Given the description of an element on the screen output the (x, y) to click on. 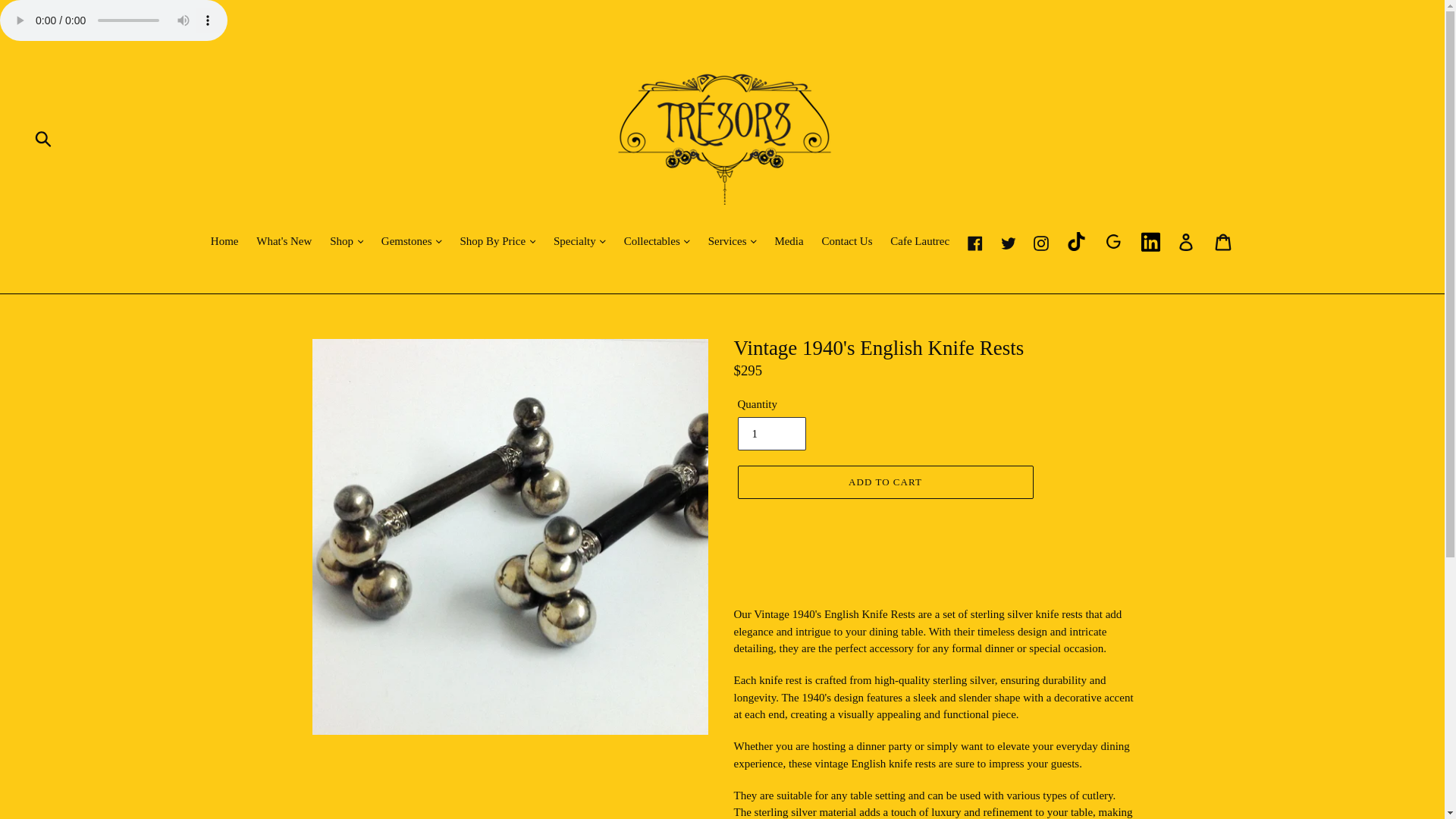
Submit (44, 137)
1 (770, 433)
